Given the description of an element on the screen output the (x, y) to click on. 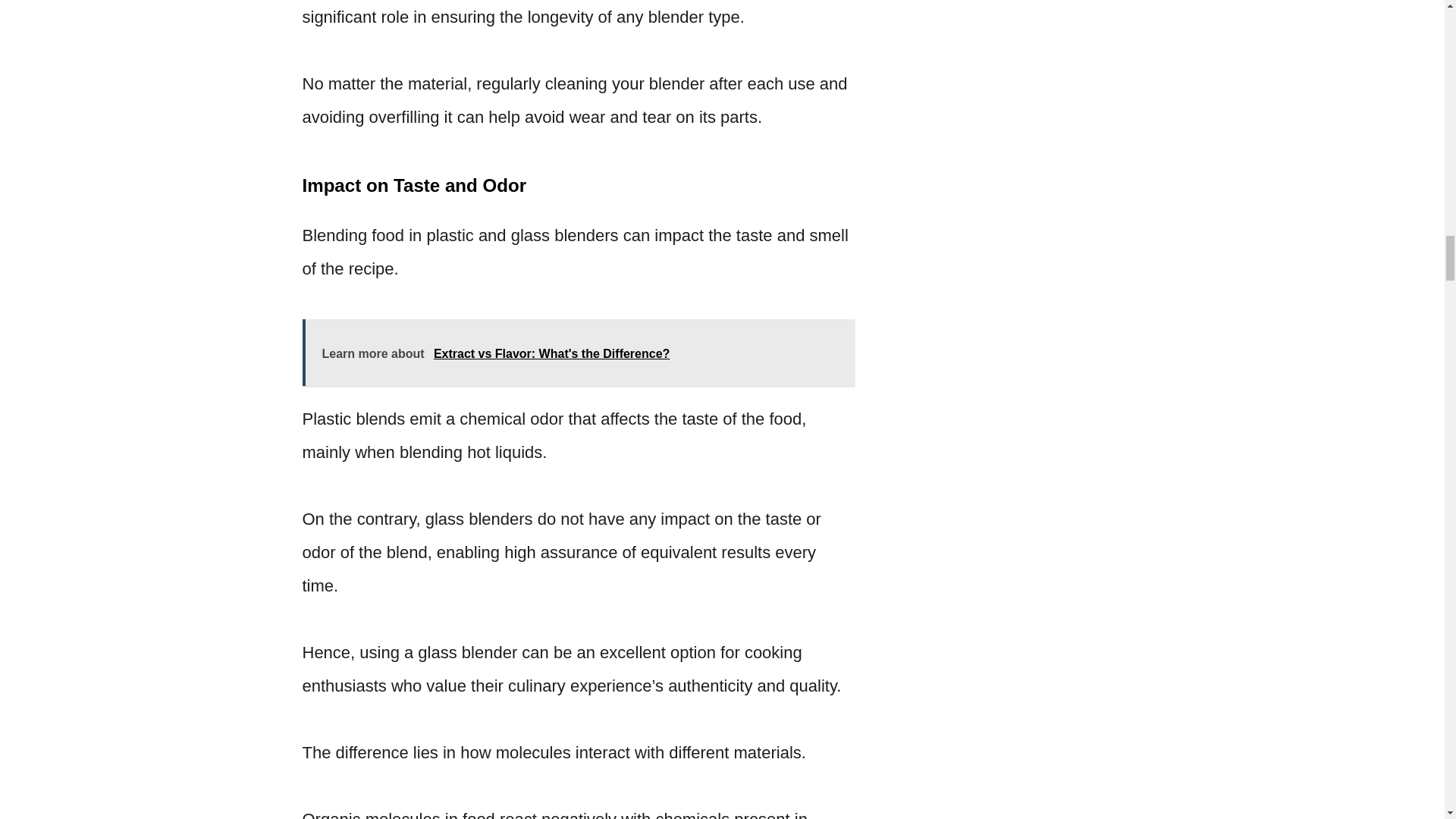
Learn more about  Extract vs Flavor: What's the Difference? (577, 352)
